Given the description of an element on the screen output the (x, y) to click on. 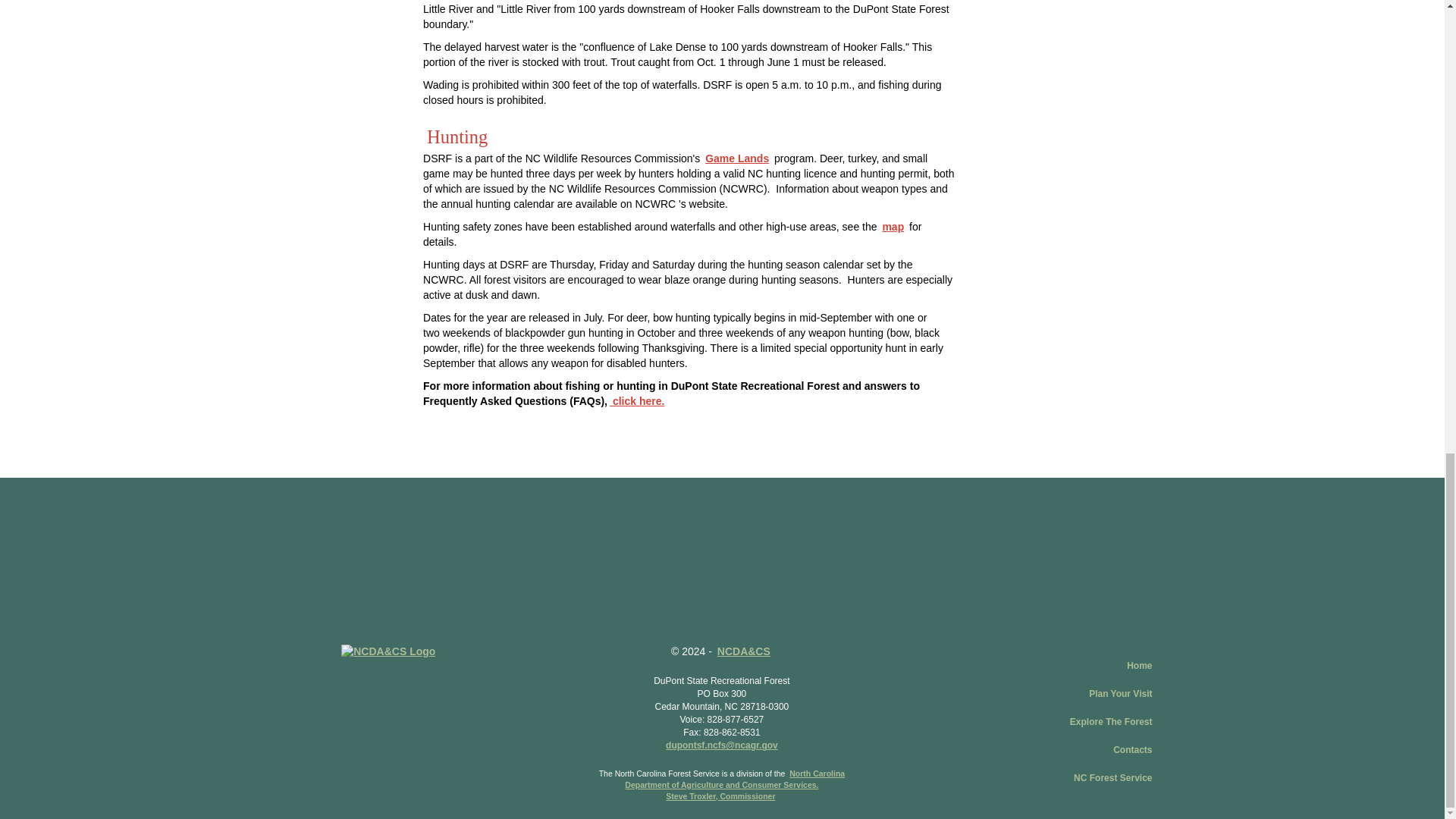
map (892, 226)
Game Lands (737, 158)
 click here. (636, 400)
